Given the description of an element on the screen output the (x, y) to click on. 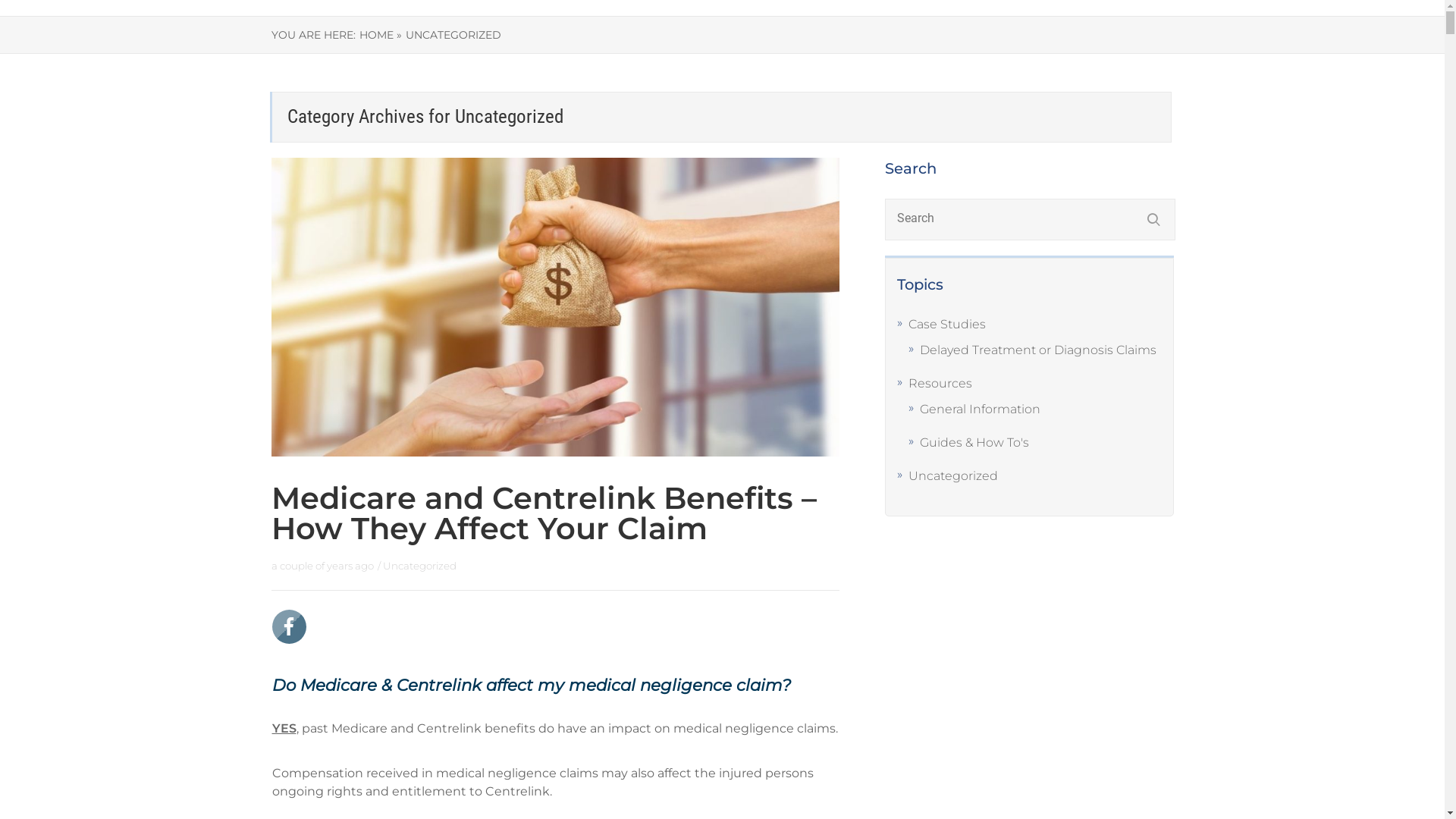
Case Studies Element type: text (946, 323)
Resources Element type: text (940, 383)
General Information Element type: text (979, 408)
Publication04 (4) Element type: hover (555, 306)
Guides & How To's Element type: text (974, 442)
Delayed Treatment or Diagnosis Claims Element type: text (1037, 349)
Uncategorized Element type: text (418, 565)
Uncategorized Element type: text (952, 475)
